Given the description of an element on the screen output the (x, y) to click on. 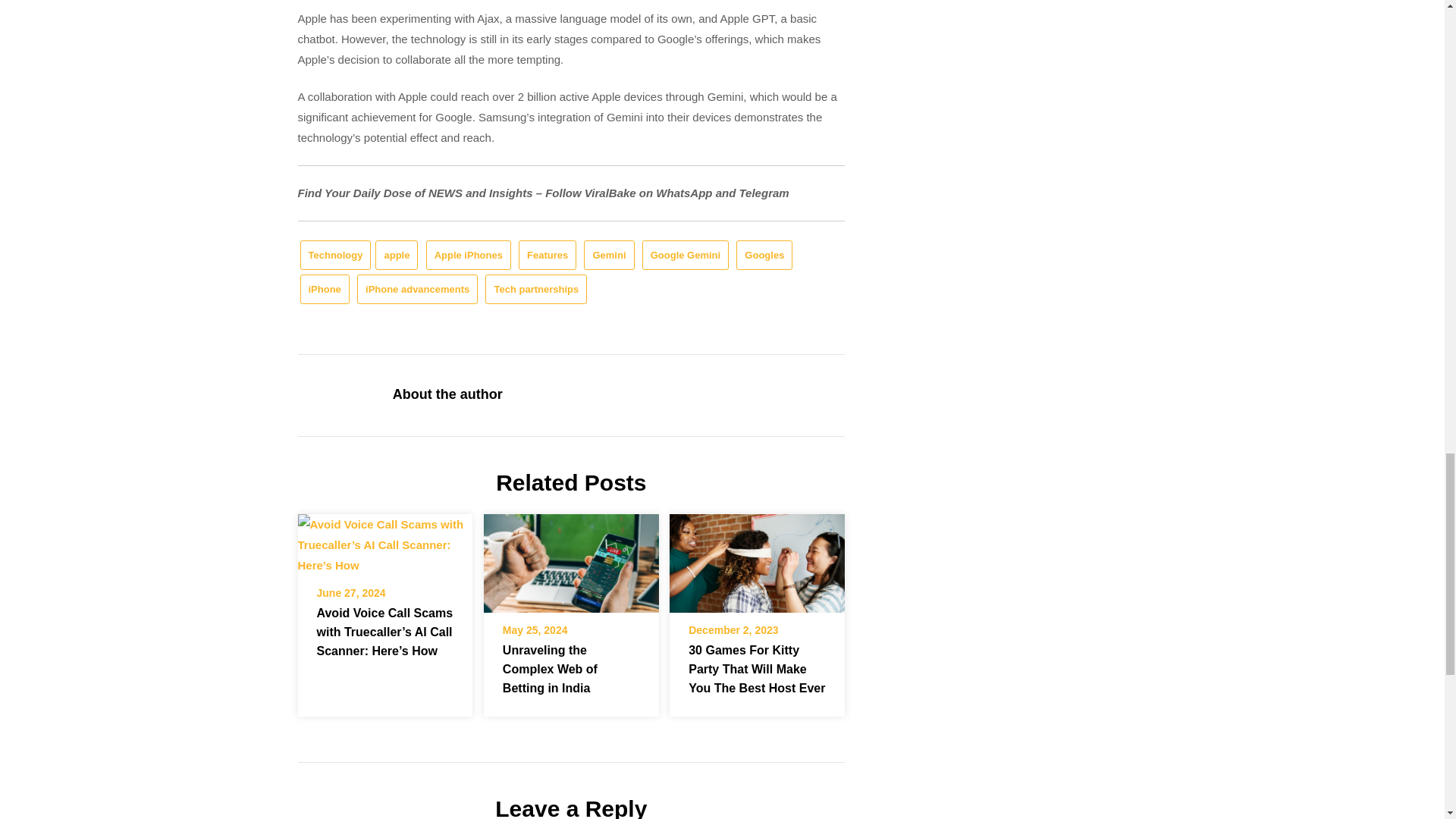
Unraveling the Complex Web of Betting in India (549, 668)
Tech partnerships (535, 288)
apple (396, 255)
Features (547, 255)
Google Gemini (685, 255)
Googles (764, 255)
Unraveling the Complex Web of Betting in India (571, 558)
Technology (335, 255)
iPhone (324, 288)
Gemini (608, 255)
Unraveling the Complex Web of Betting in India (571, 563)
Apple iPhones (468, 255)
